Given the description of an element on the screen output the (x, y) to click on. 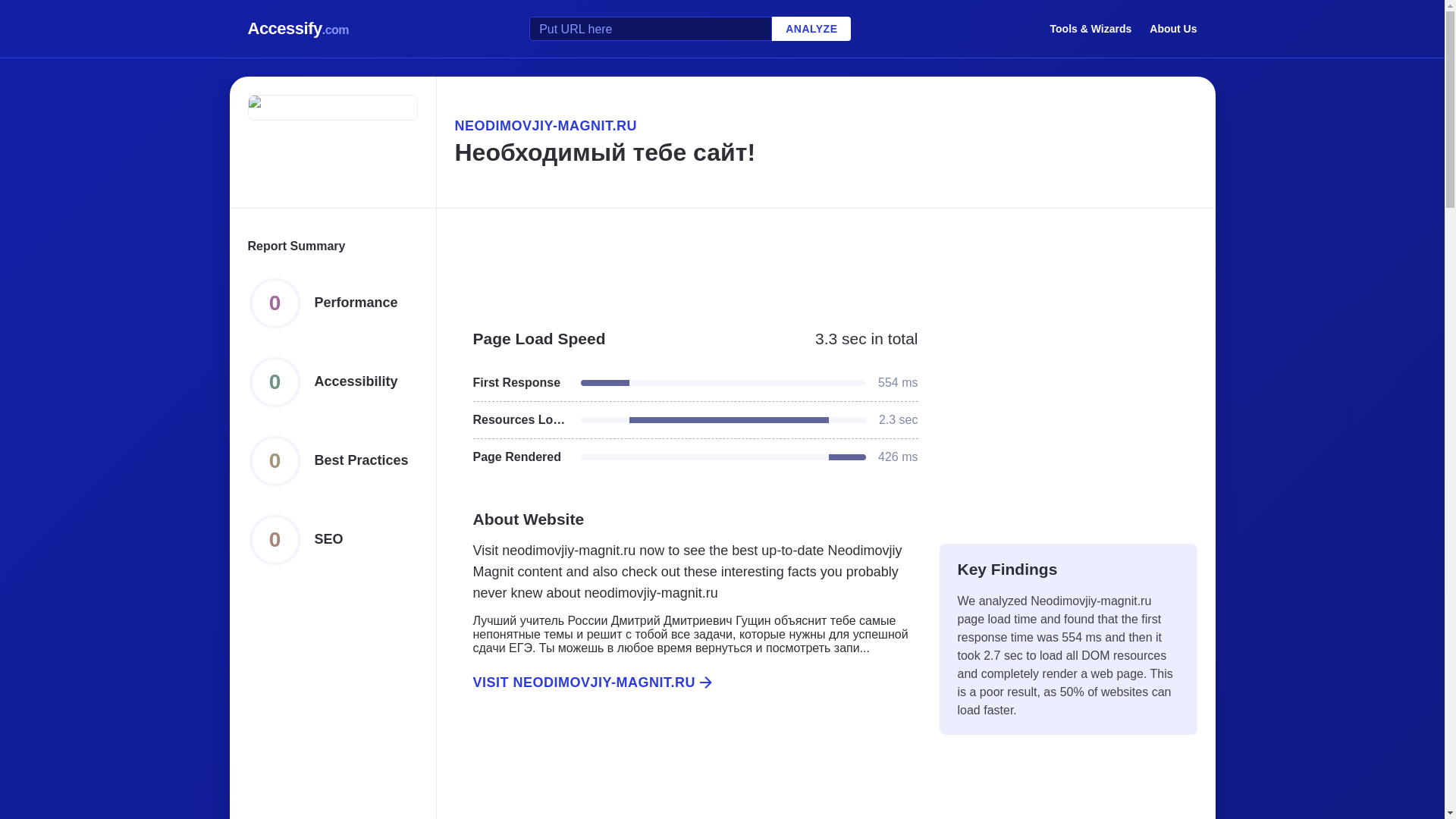
ANALYZE (810, 28)
Accessify.com (298, 28)
VISIT NEODIMOVJIY-MAGNIT.RU (686, 682)
NEODIMOVJIY-MAGNIT.RU (825, 126)
About Us (1173, 28)
